Given the description of an element on the screen output the (x, y) to click on. 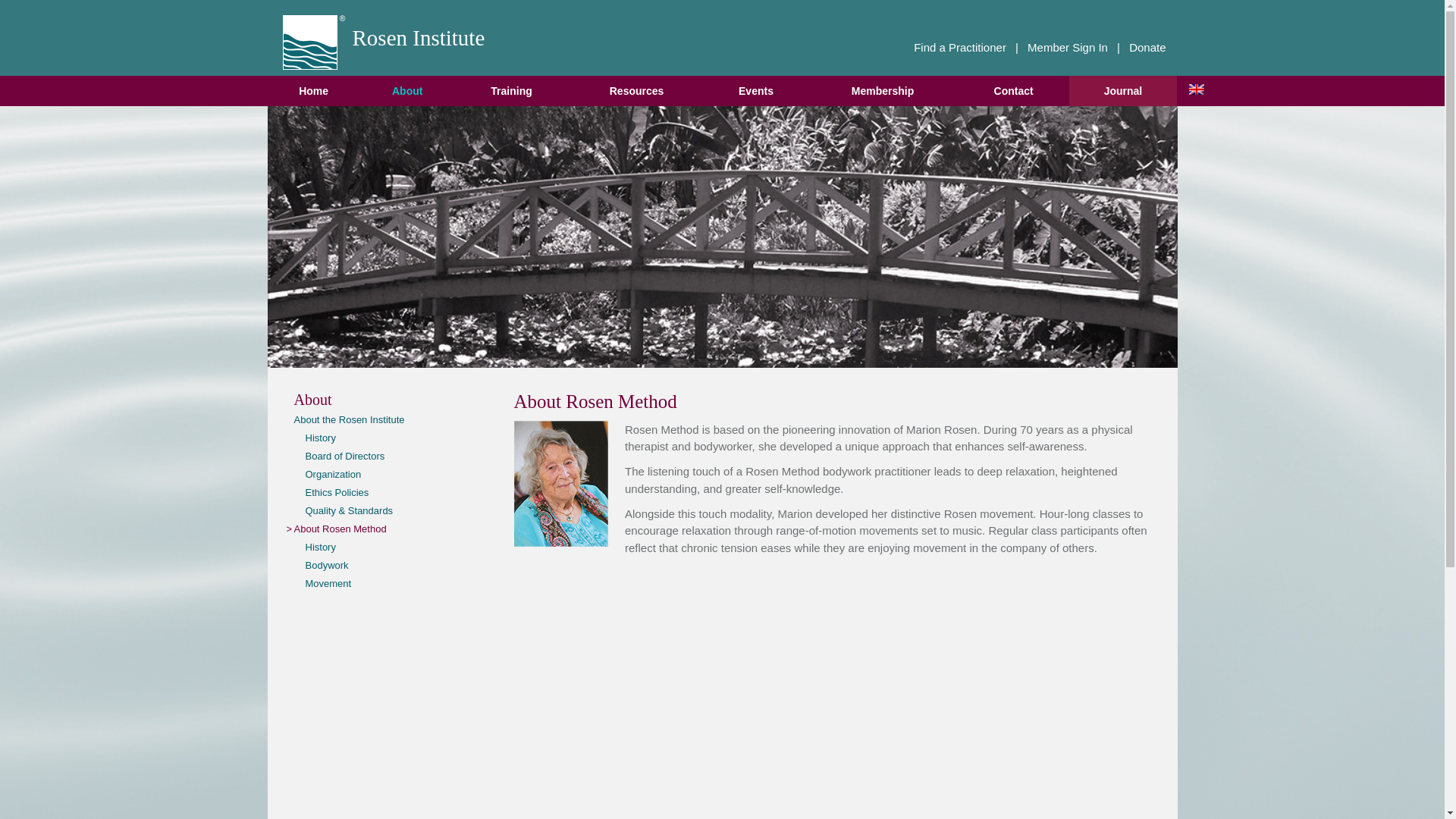
About (406, 91)
Training (511, 91)
Training (511, 91)
Home (312, 91)
Find a Practitioner (960, 47)
Donate (1147, 47)
Resources (635, 91)
About (406, 91)
Member Sign In (1067, 47)
Rosen Institute (314, 37)
Rosen Institute (314, 37)
Events (756, 91)
Home (312, 91)
